Given the description of an element on the screen output the (x, y) to click on. 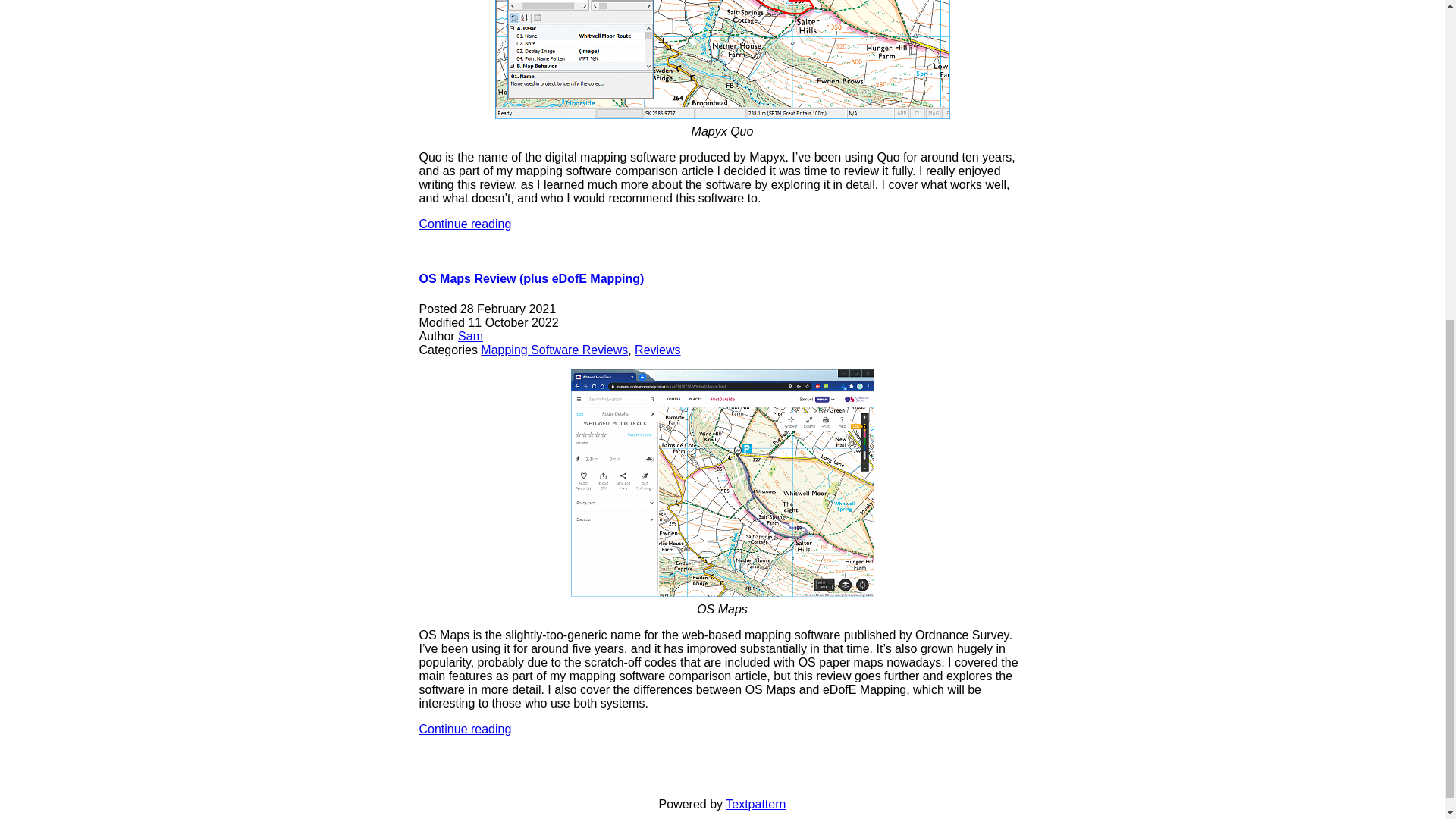
Sam (470, 336)
Mapping Software Reviews (553, 349)
Continue reading (465, 223)
Continue reading (465, 728)
Mapyx Quo Review (465, 223)
